Given the description of an element on the screen output the (x, y) to click on. 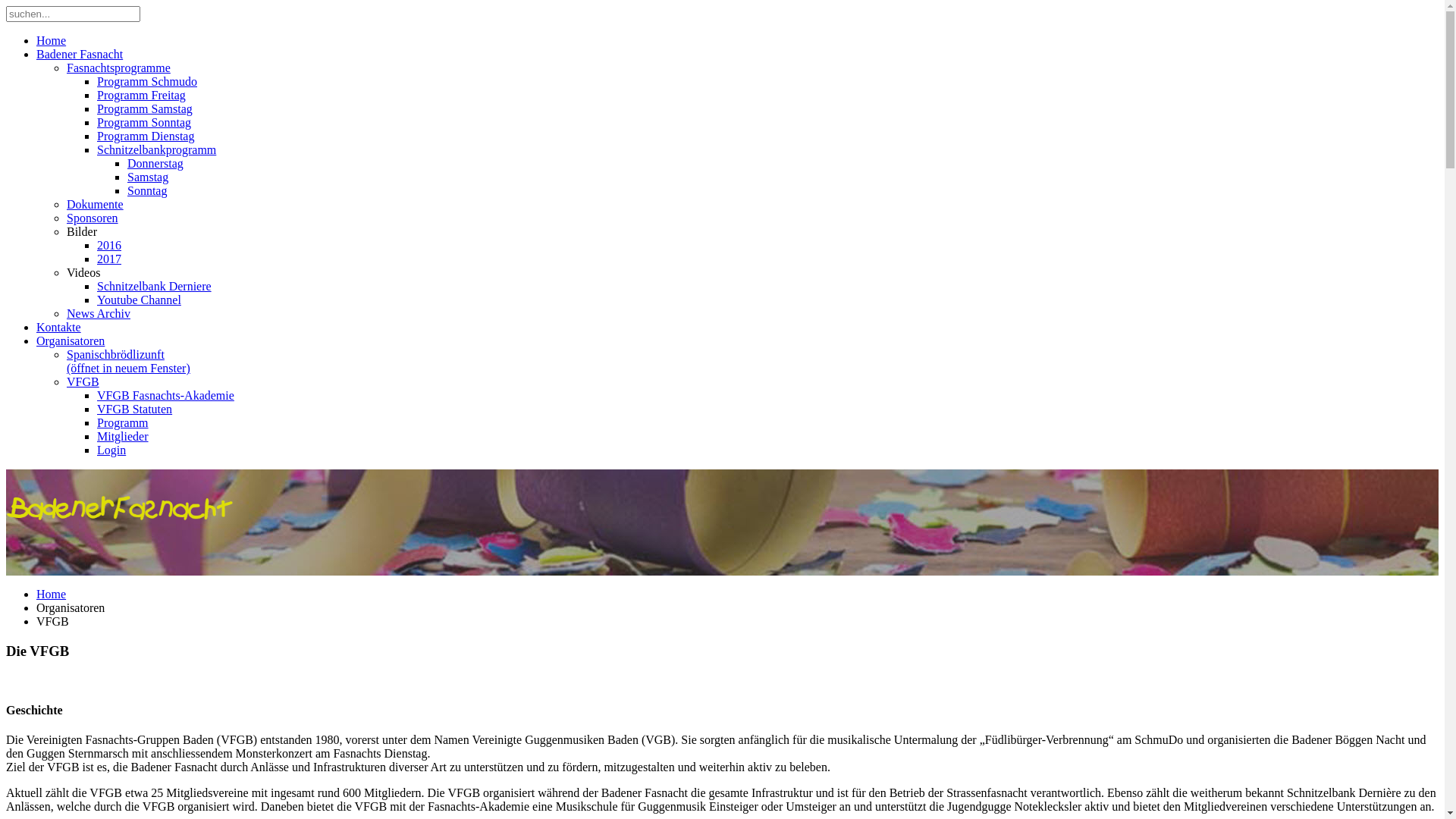
Programm Element type: text (122, 422)
News Archiv Element type: text (98, 313)
Mitglieder Element type: text (122, 435)
Sponsoren Element type: text (92, 217)
Programm Samstag Element type: text (144, 108)
Samstag Element type: text (147, 176)
Programm Dienstag Element type: text (145, 135)
2016 Element type: text (109, 244)
Sonntag Element type: text (146, 190)
Schnitzelbank Derniere Element type: text (154, 285)
Home Element type: text (50, 593)
VFGB Fasnachts-Akademie Element type: text (165, 395)
Kontakte Element type: text (58, 326)
Badener Fasnacht Element type: text (79, 53)
Home Element type: text (50, 40)
Youtube Channel Element type: text (139, 299)
Programm Freitag Element type: text (141, 94)
Programm Sonntag Element type: text (144, 122)
Programm Schmudo Element type: text (147, 81)
VFGB Element type: text (82, 381)
VFGB Statuten Element type: text (134, 408)
Organisatoren Element type: text (70, 340)
2017 Element type: text (109, 258)
Fasnachtsprogramme Element type: text (118, 67)
Dokumente Element type: text (94, 203)
Login Element type: text (111, 449)
Donnerstag Element type: text (155, 162)
Schnitzelbankprogramm Element type: text (156, 149)
